Given the description of an element on the screen output the (x, y) to click on. 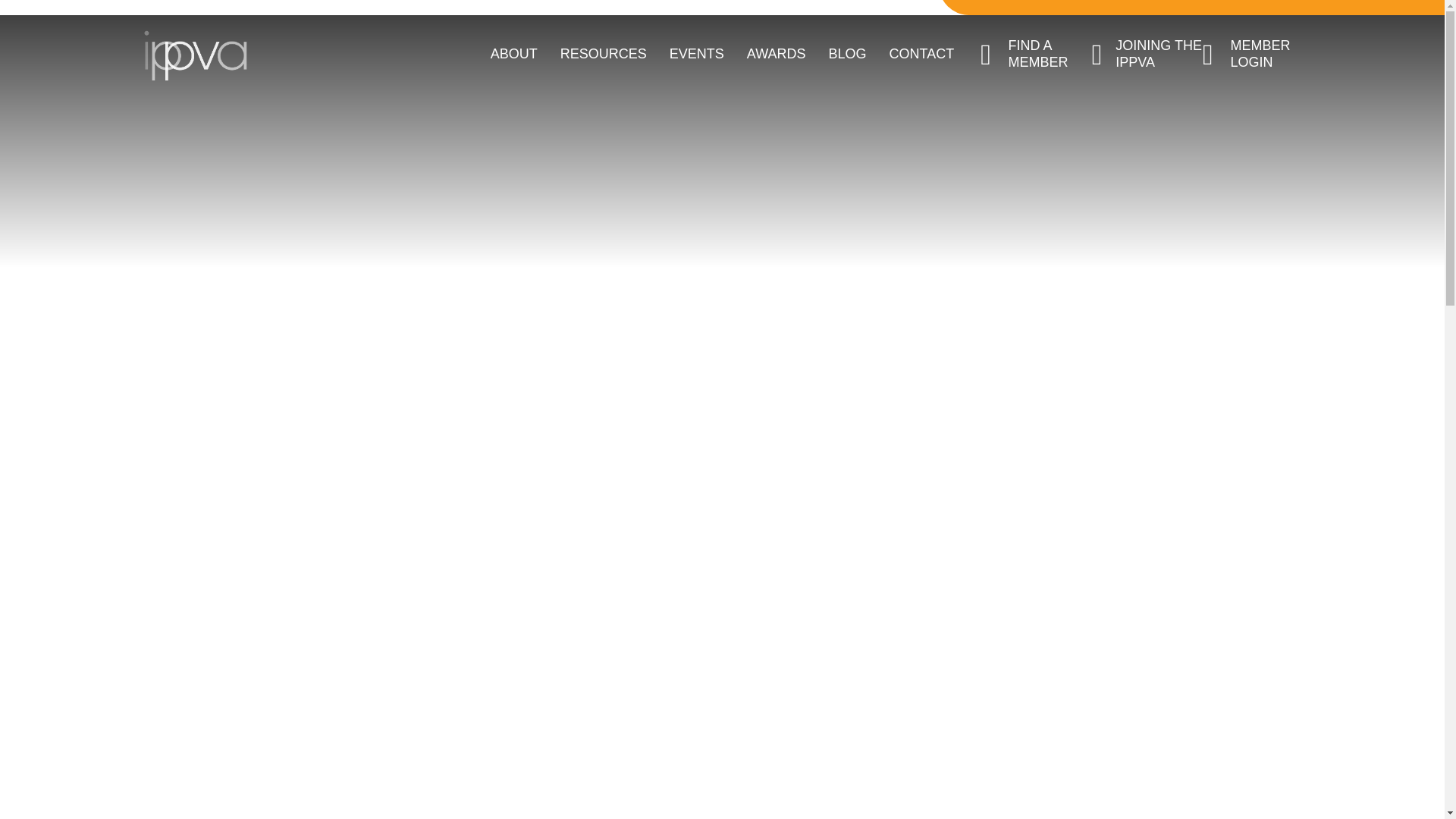
AWARDS (776, 54)
RESOURCES (603, 54)
FIND A MEMBER (1034, 53)
JOINING THE IPPVA (1147, 53)
BLOG (847, 54)
CONTACT (922, 54)
ABOUT (513, 54)
MEMBER LOGIN (1257, 53)
EVENTS (696, 54)
